Given the description of an element on the screen output the (x, y) to click on. 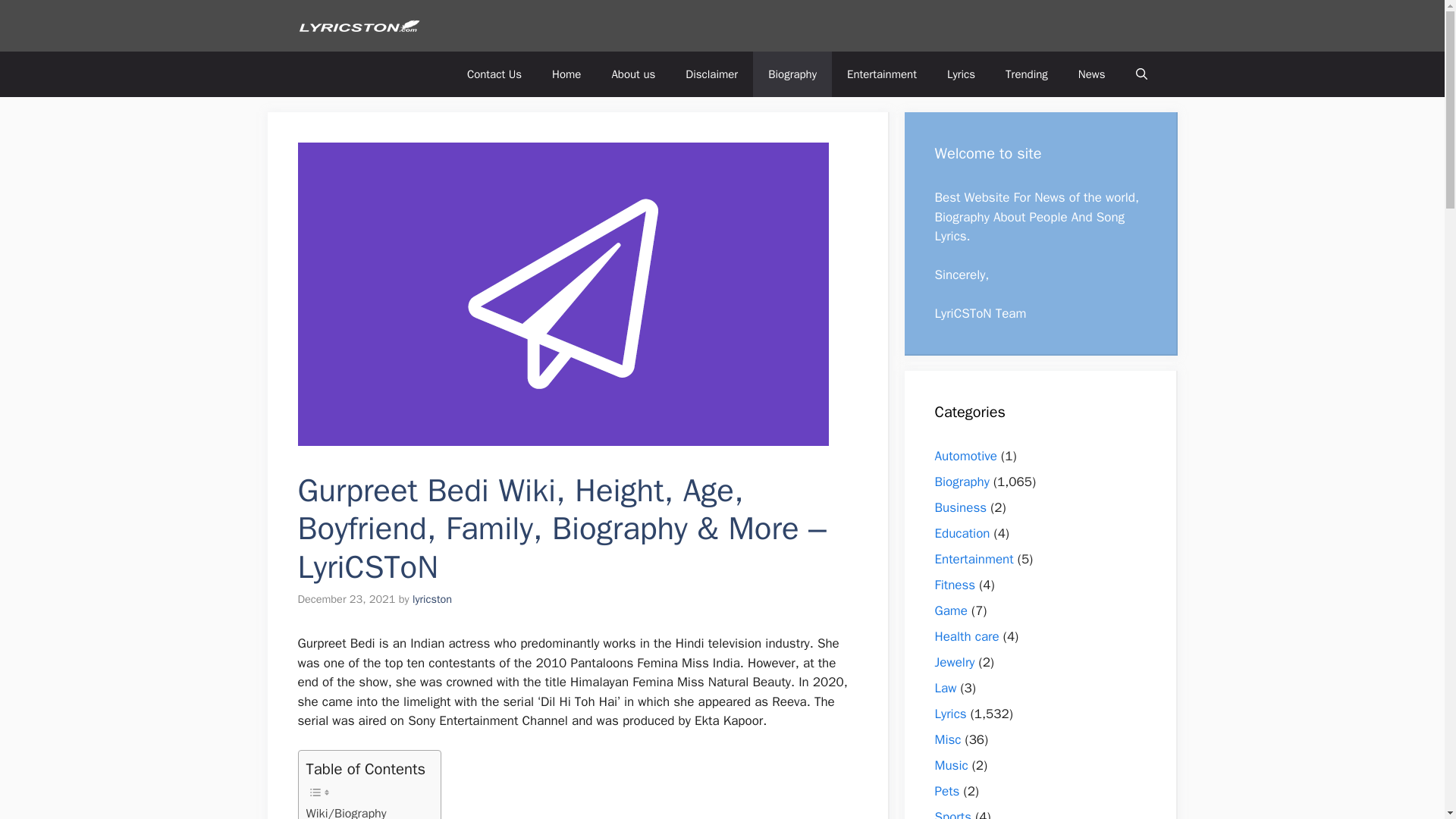
View all posts by lyricston (431, 599)
About us (632, 74)
Lyrics (960, 74)
Contact Us (494, 74)
Biography (791, 74)
Trending (1026, 74)
lyricston (431, 599)
Home (566, 74)
Disclaimer (710, 74)
News (1091, 74)
